Given the description of an element on the screen output the (x, y) to click on. 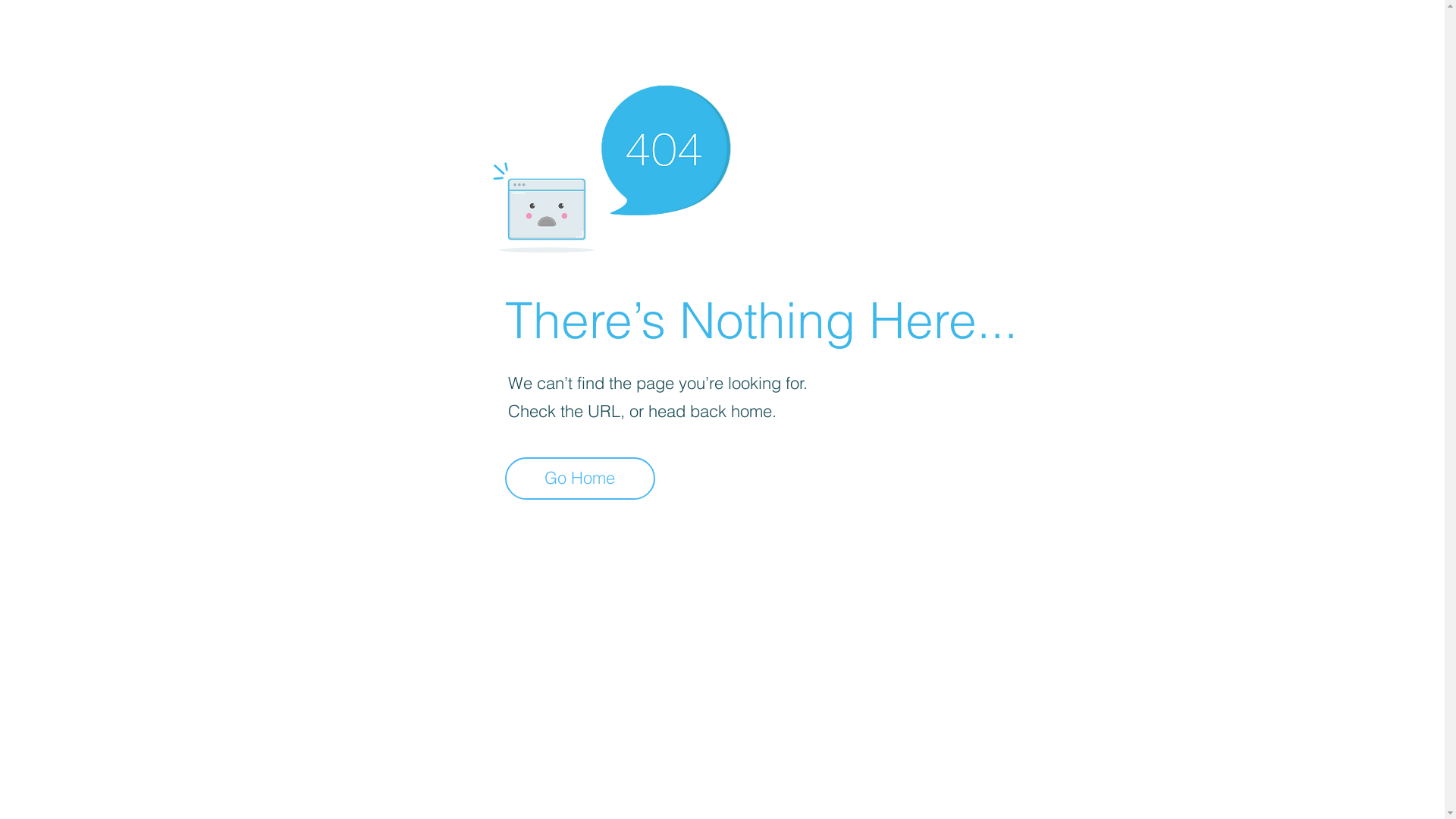
Go Home Element type: text (580, 478)
404-icon_2.png Element type: hover (610, 164)
